Given the description of an element on the screen output the (x, y) to click on. 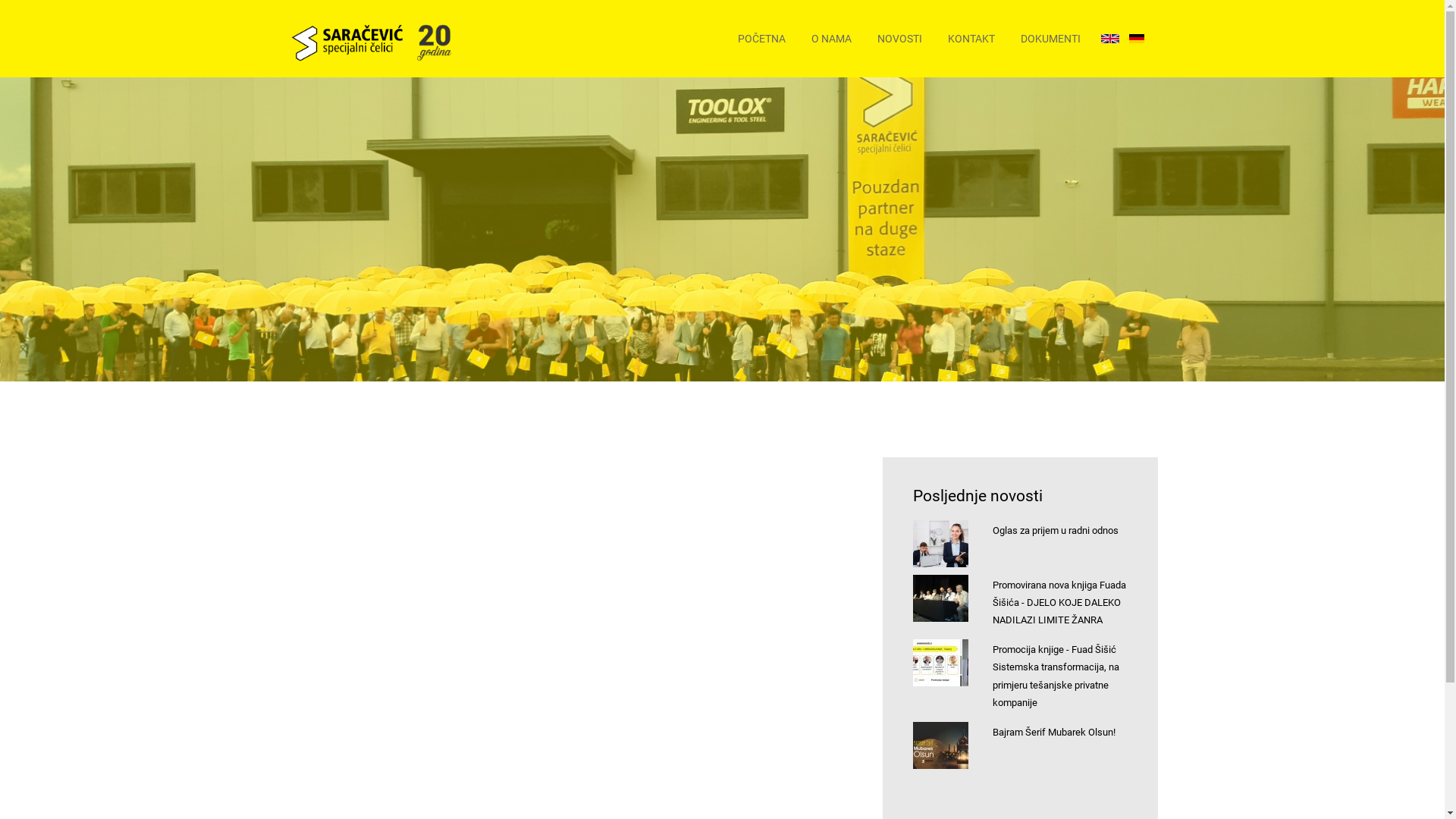
Oglas za prijem u radni odnos Element type: text (1055, 530)
DOKUMENTI Element type: text (1050, 38)
O NAMA Element type: text (831, 38)
KONTAKT Element type: text (971, 38)
NOVOSTI Element type: text (898, 38)
